Given the description of an element on the screen output the (x, y) to click on. 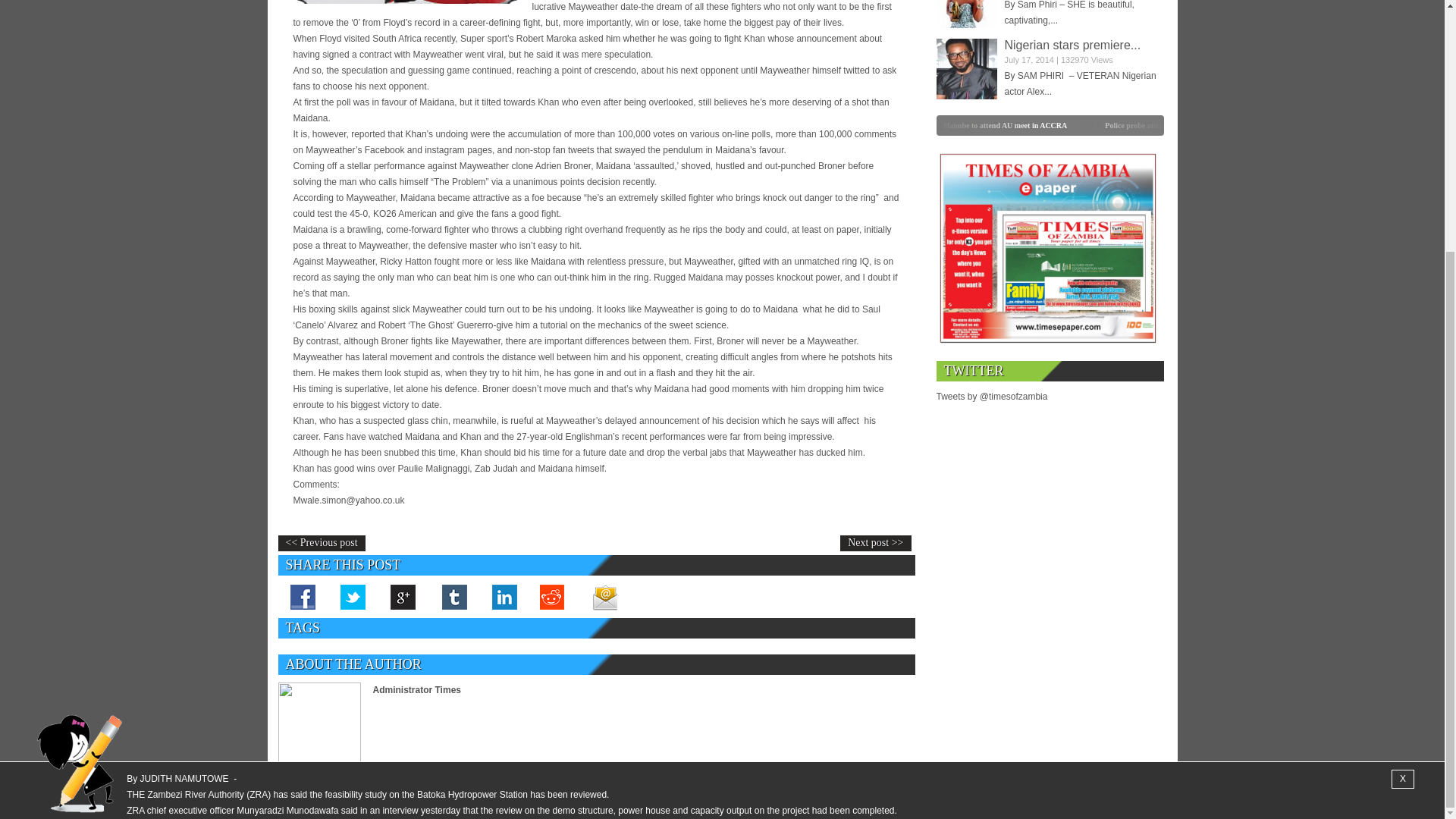
Tumblr (453, 596)
Linkedin (502, 596)
Reddit (553, 596)
Police probe attempted rape on State House staffer (1206, 125)
Email (603, 596)
Facebook (303, 596)
0 (758, 125)
Twitter (352, 596)
Ghanaian actors to visit Zambia (965, 13)
Haimbe to attend AU meet in ACCRA (1024, 125)
Posts by Administrator Times (416, 689)
